Given the description of an element on the screen output the (x, y) to click on. 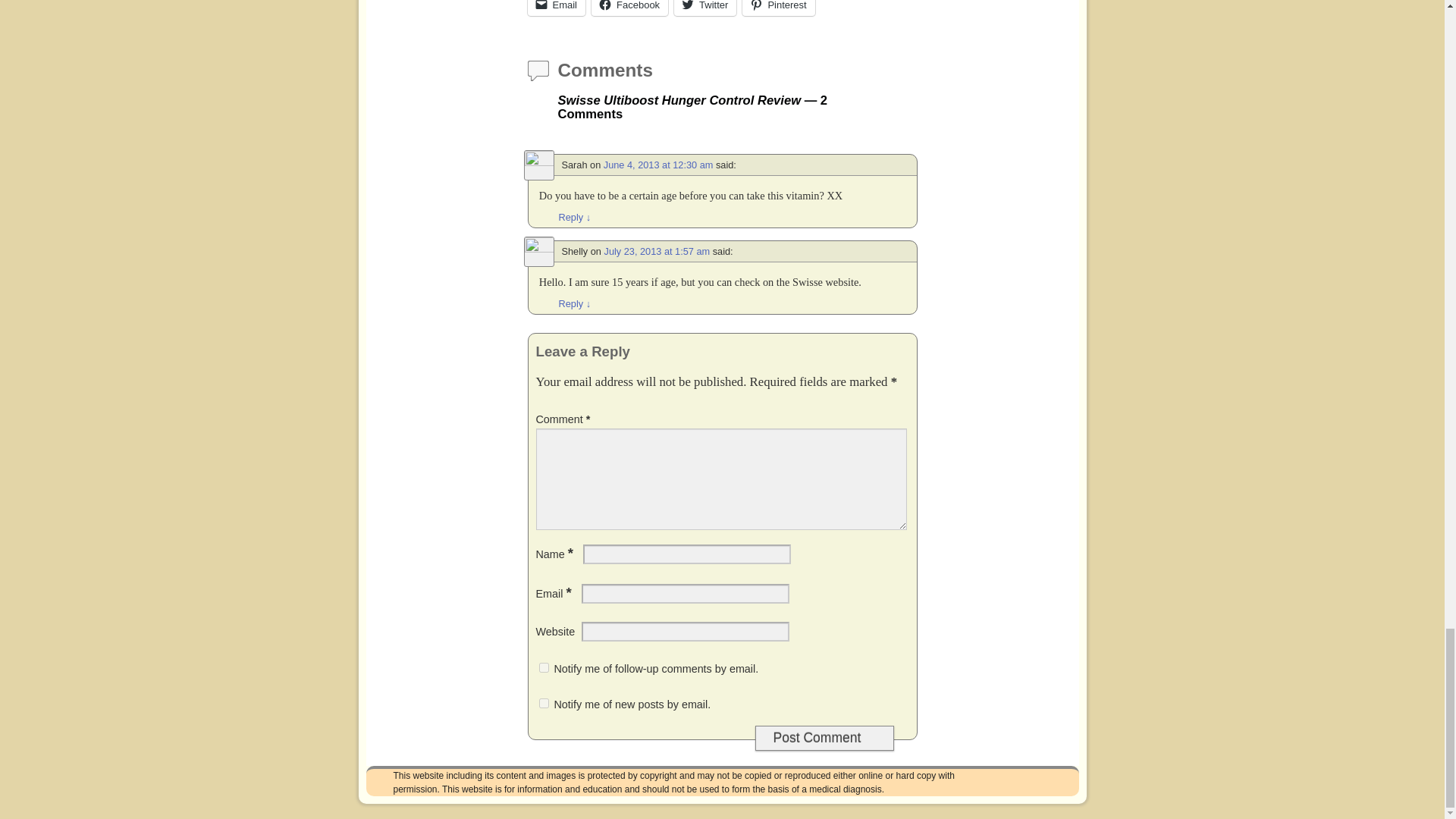
Post Comment (824, 738)
subscribe (543, 667)
subscribe (543, 703)
